Given the description of an element on the screen output the (x, y) to click on. 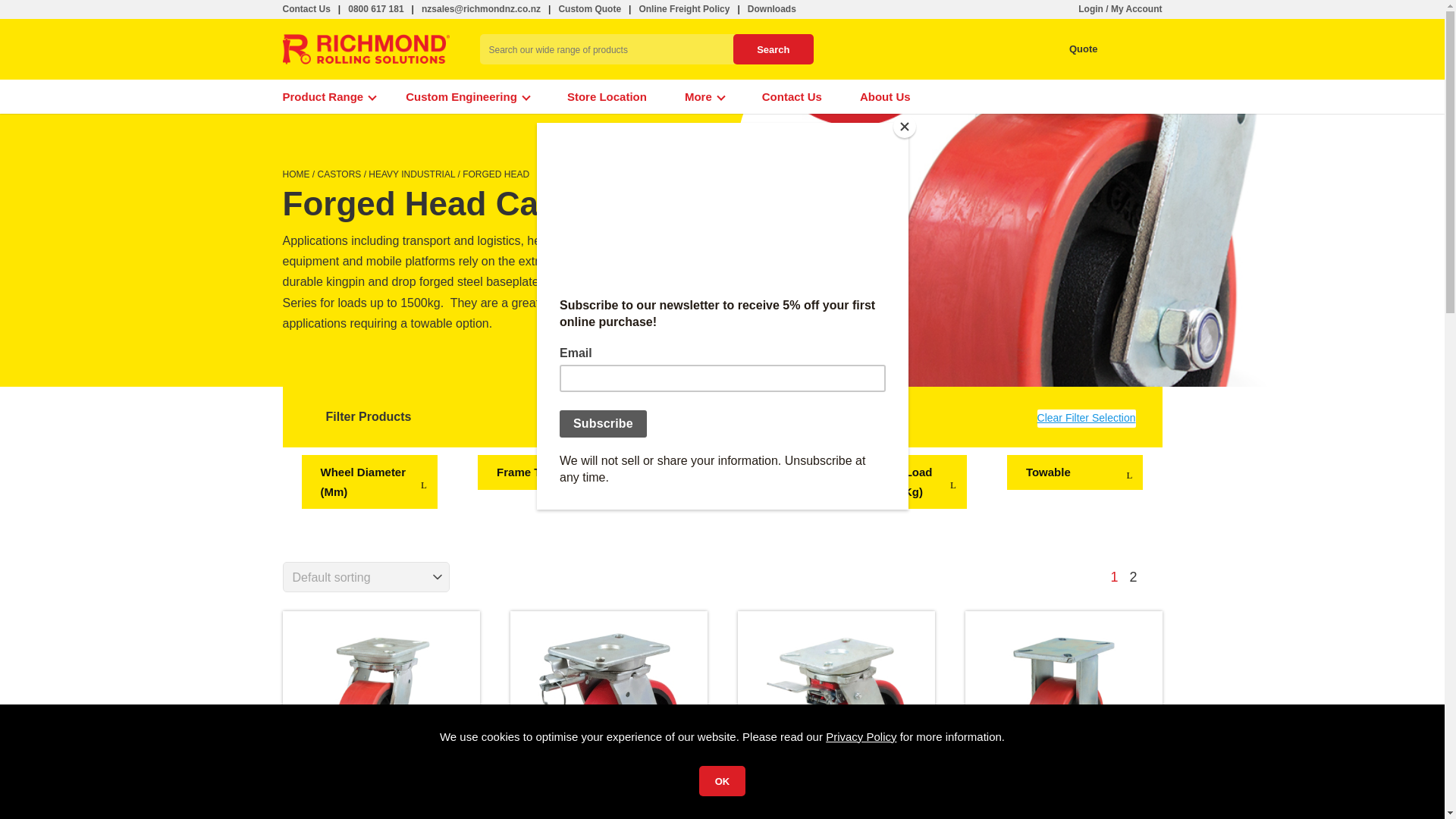
Product Range (328, 96)
Frame Type (545, 481)
0800 617 181 (375, 9)
Custom Quote (589, 9)
Online Freight Policy (684, 9)
Search (772, 49)
Wheel Type (721, 481)
Quote (1069, 48)
Towable (1074, 481)
Downloads (772, 9)
Contact Us (306, 9)
